Given the description of an element on the screen output the (x, y) to click on. 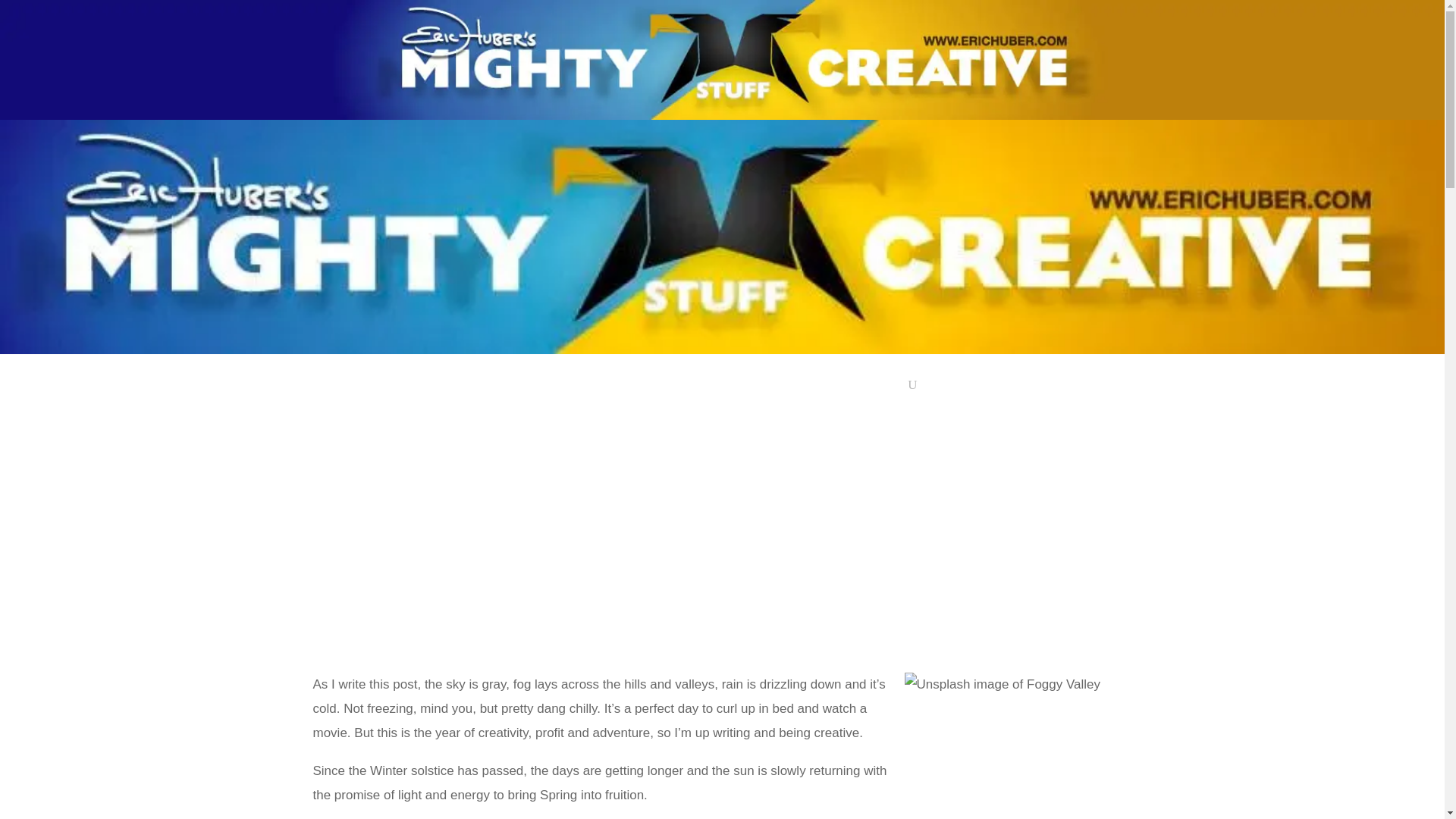
Contact (881, 388)
Other Creativity (735, 388)
About (588, 388)
First Earth (822, 388)
Writing (651, 388)
HOME (534, 388)
